Given the description of an element on the screen output the (x, y) to click on. 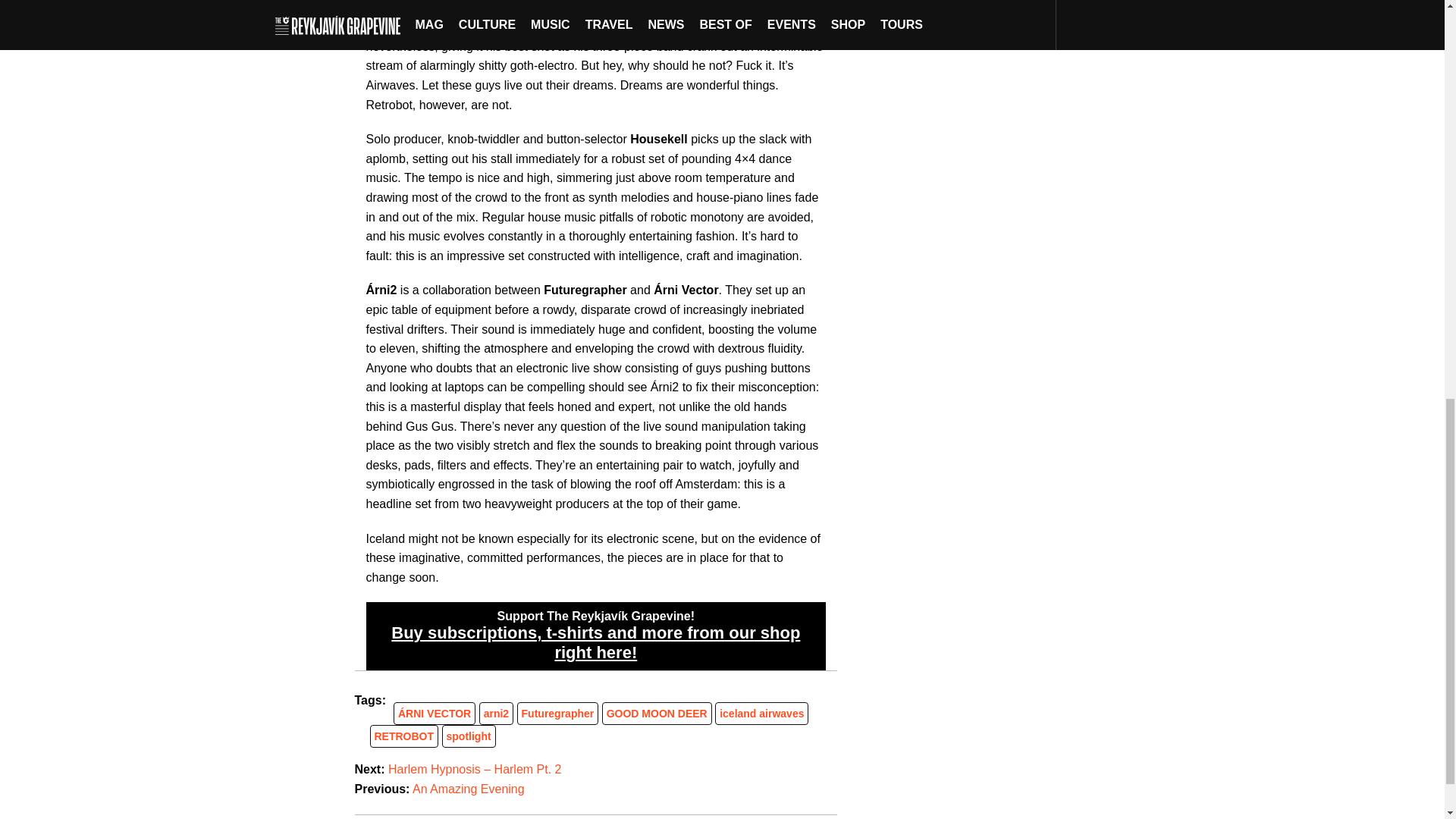
spotlight (469, 736)
GOOD MOON DEER (657, 713)
Futuregrapher (557, 713)
arni2 (495, 713)
An Amazing Evening (468, 788)
RETROBOT (403, 736)
iceland airwaves (761, 713)
